Given the description of an element on the screen output the (x, y) to click on. 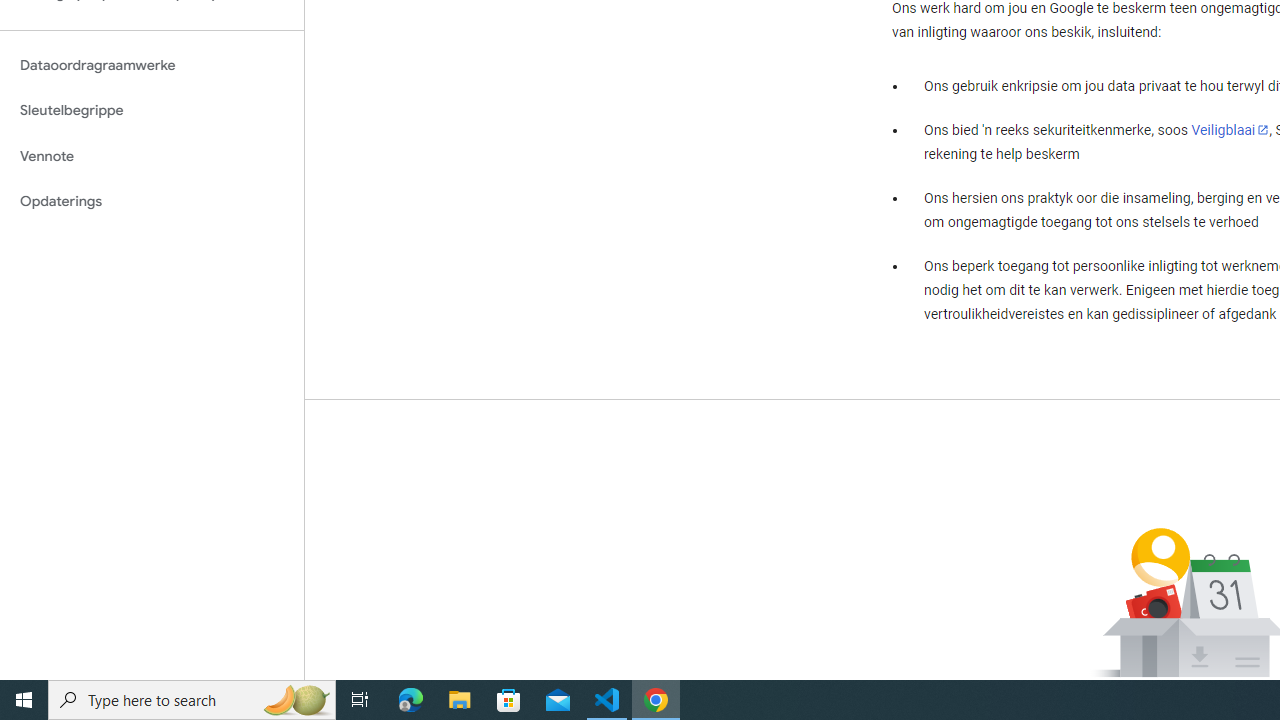
Dataoordragraamwerke (152, 65)
Vennote (152, 156)
Opdaterings (152, 201)
Veiligblaai (1229, 129)
Sleutelbegrippe (152, 110)
